Given the description of an element on the screen output the (x, y) to click on. 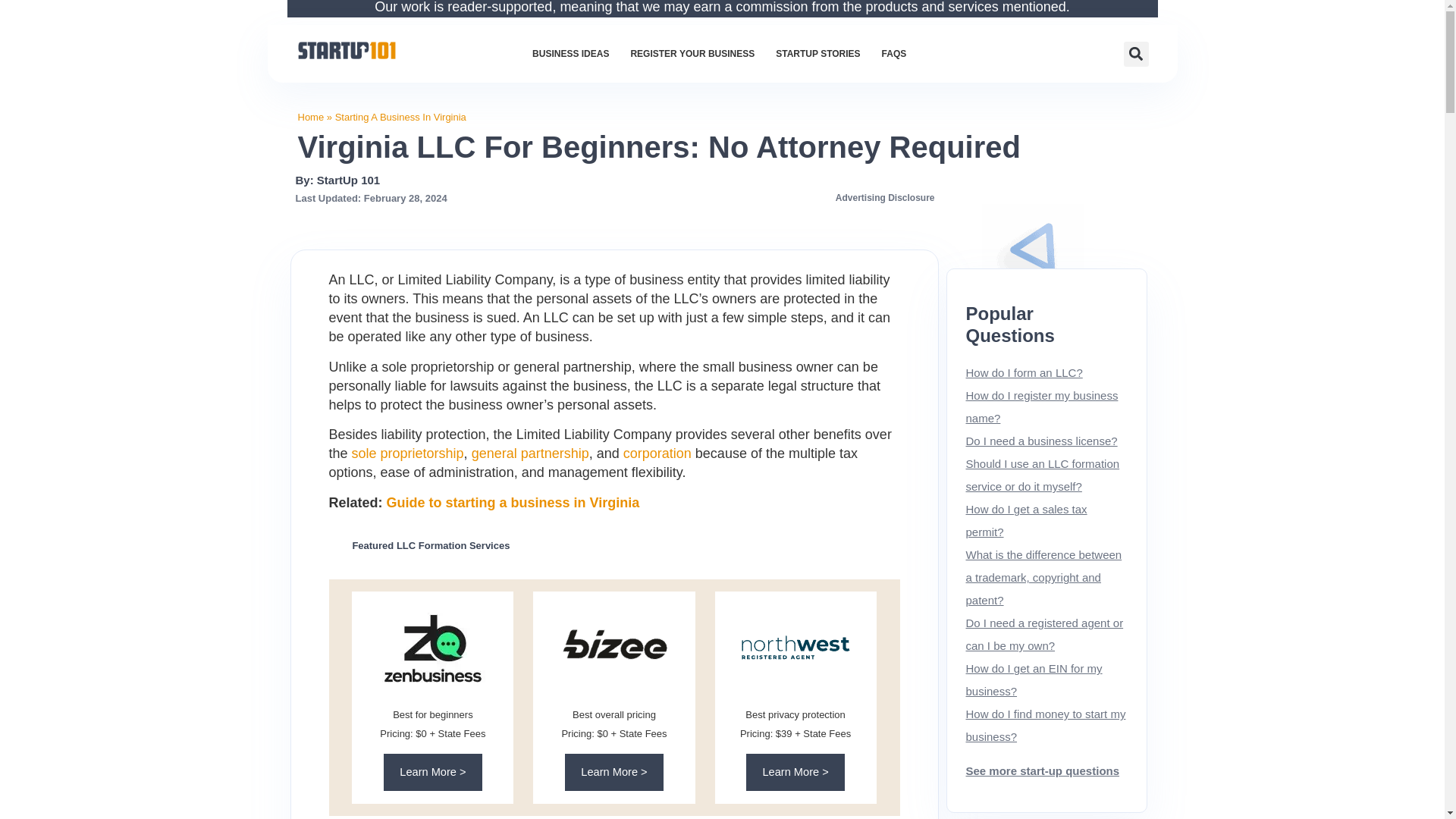
corporation (657, 453)
By: StartUp 101 (337, 180)
FAQS (893, 53)
Guide to starting a business in Virginia (513, 502)
Starting A Business In Virginia (399, 116)
REGISTER YOUR BUSINESS (692, 53)
sole proprietorship (408, 453)
general partnership (530, 453)
Home (310, 116)
STARTUP STORIES (817, 53)
BUSINESS IDEAS (570, 53)
